Given the description of an element on the screen output the (x, y) to click on. 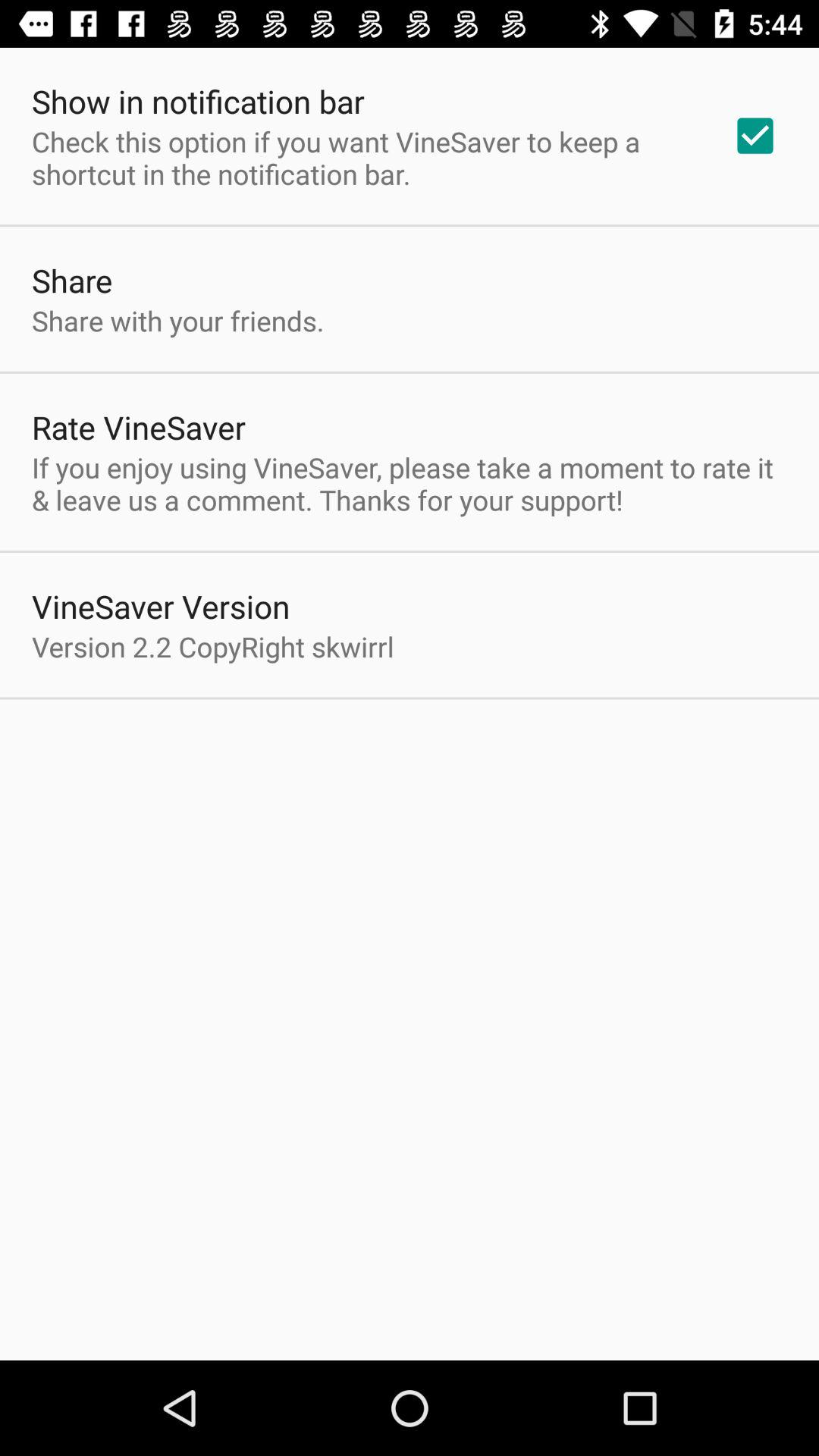
open the item below the share item (177, 320)
